Given the description of an element on the screen output the (x, y) to click on. 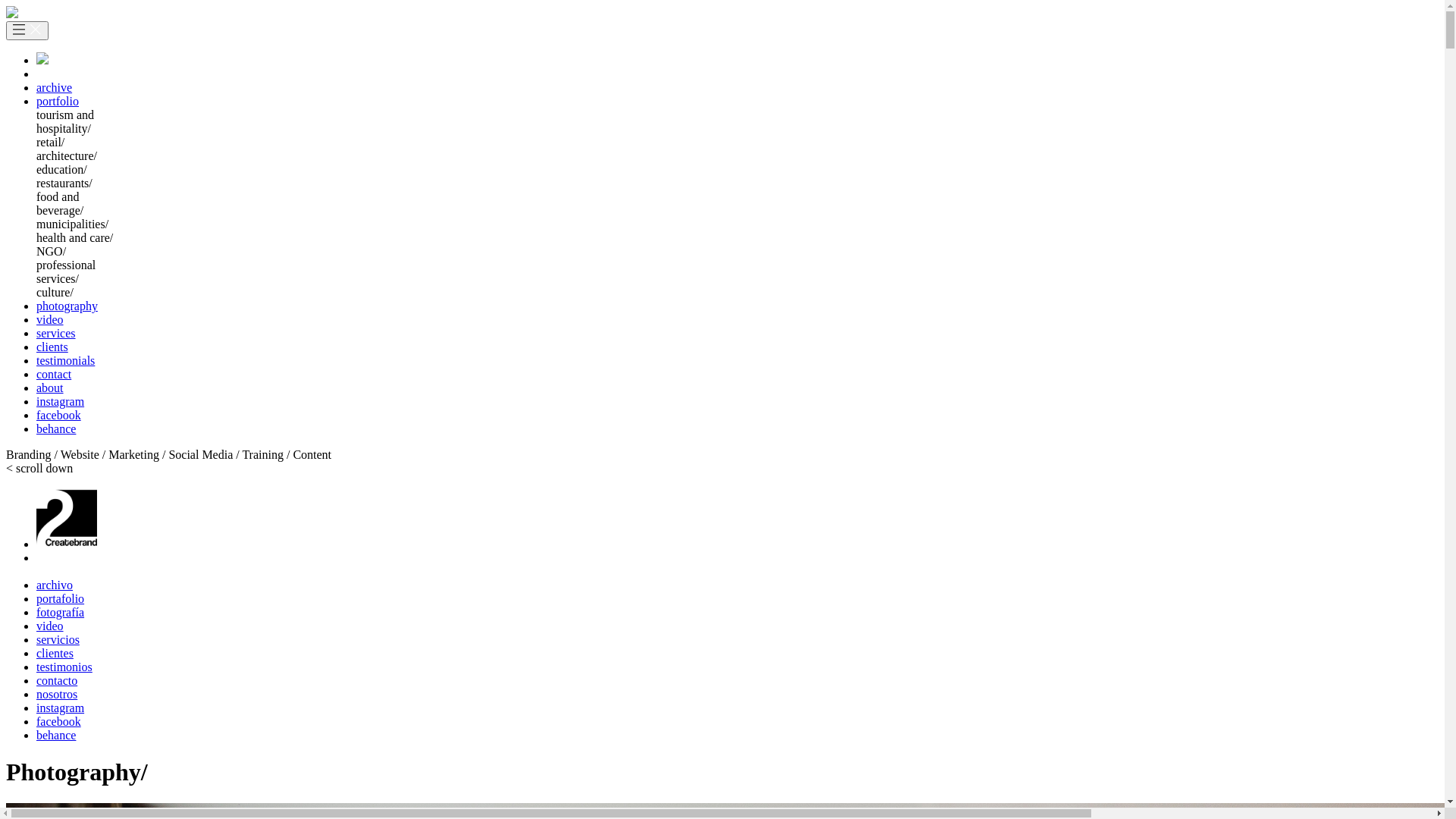
contact Element type: text (53, 373)
portfolio Element type: text (57, 100)
nosotros Element type: text (56, 693)
video Element type: text (49, 319)
instagram Element type: text (60, 707)
portafolio Element type: text (60, 598)
photography Element type: text (66, 305)
facebook Element type: text (58, 721)
servicios Element type: text (57, 639)
about Element type: text (49, 387)
behance Element type: text (55, 428)
archive Element type: text (54, 87)
instagram Element type: text (60, 401)
facebook Element type: text (58, 414)
testimonios Element type: text (64, 666)
contacto Element type: text (56, 680)
clientes Element type: text (54, 652)
archivo Element type: text (54, 584)
video Element type: text (49, 625)
testimonials Element type: text (65, 360)
behance Element type: text (55, 734)
clients Element type: text (52, 346)
services Element type: text (55, 332)
